Given the description of an element on the screen output the (x, y) to click on. 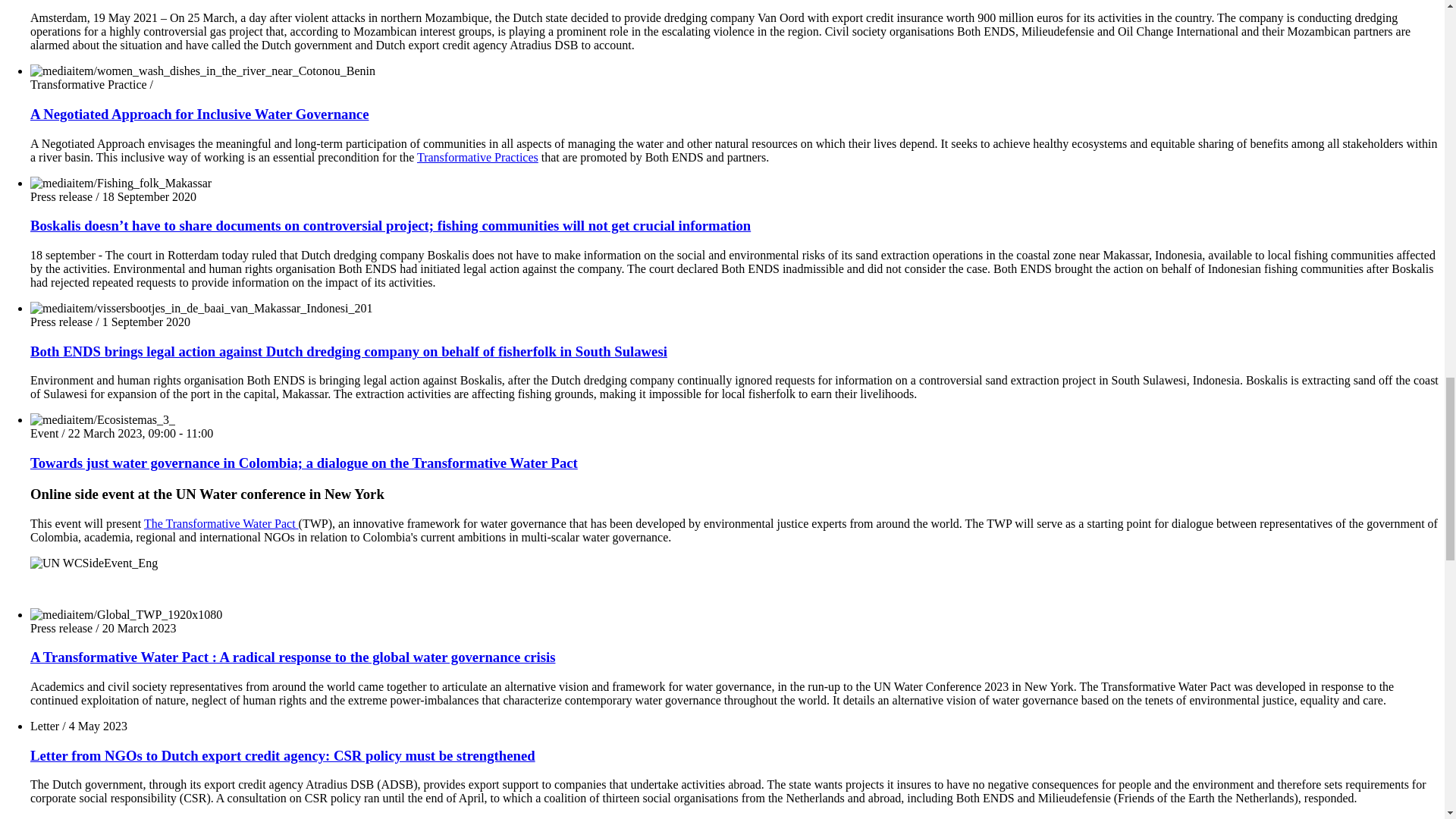
The Transformative Water Pact (221, 522)
Transformative Practices (477, 156)
A Negotiated Approach for Inclusive Water Governance (199, 114)
